Given the description of an element on the screen output the (x, y) to click on. 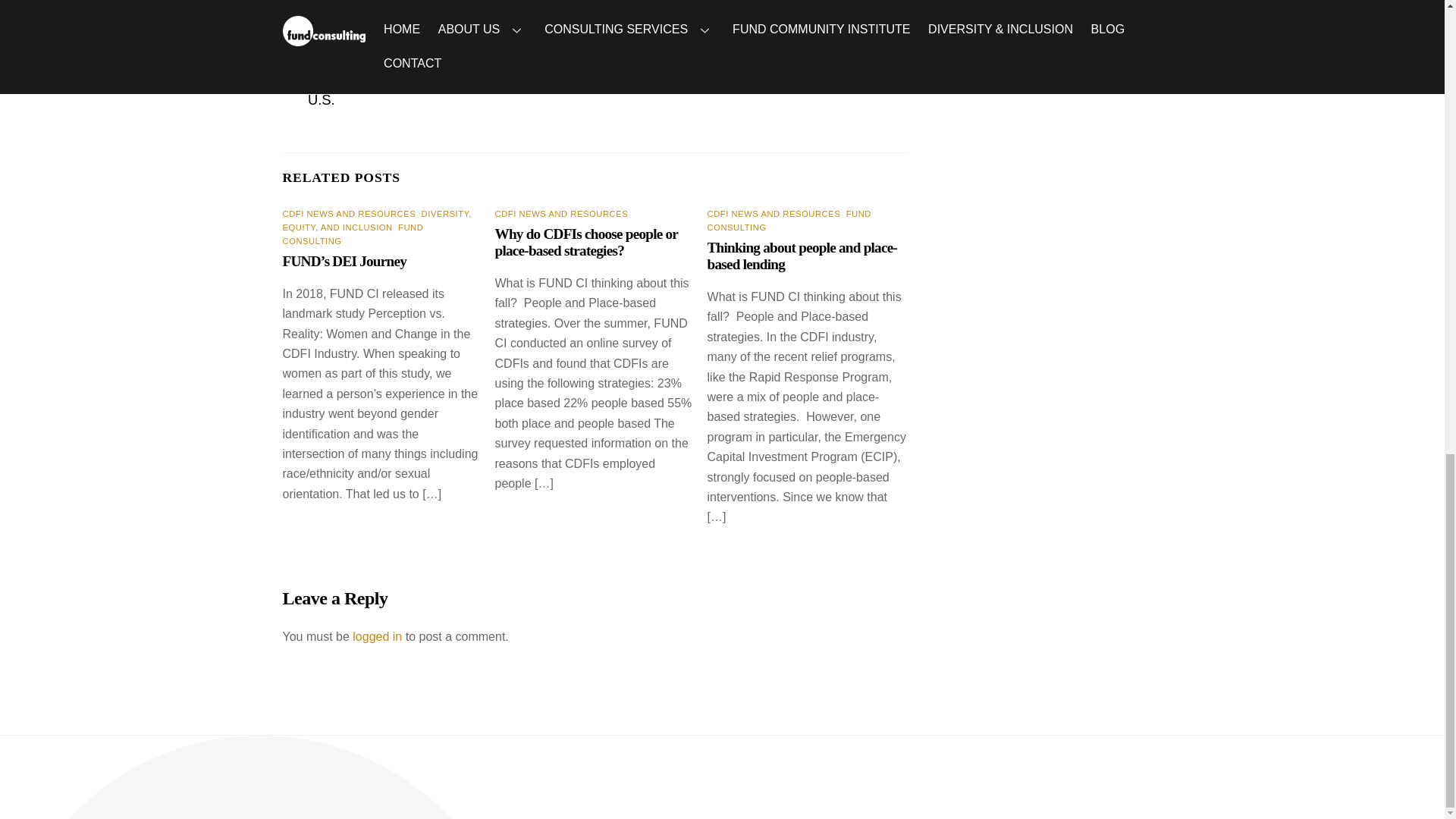
CDFI NEWS AND RESOURCES (348, 213)
